Given the description of an element on the screen output the (x, y) to click on. 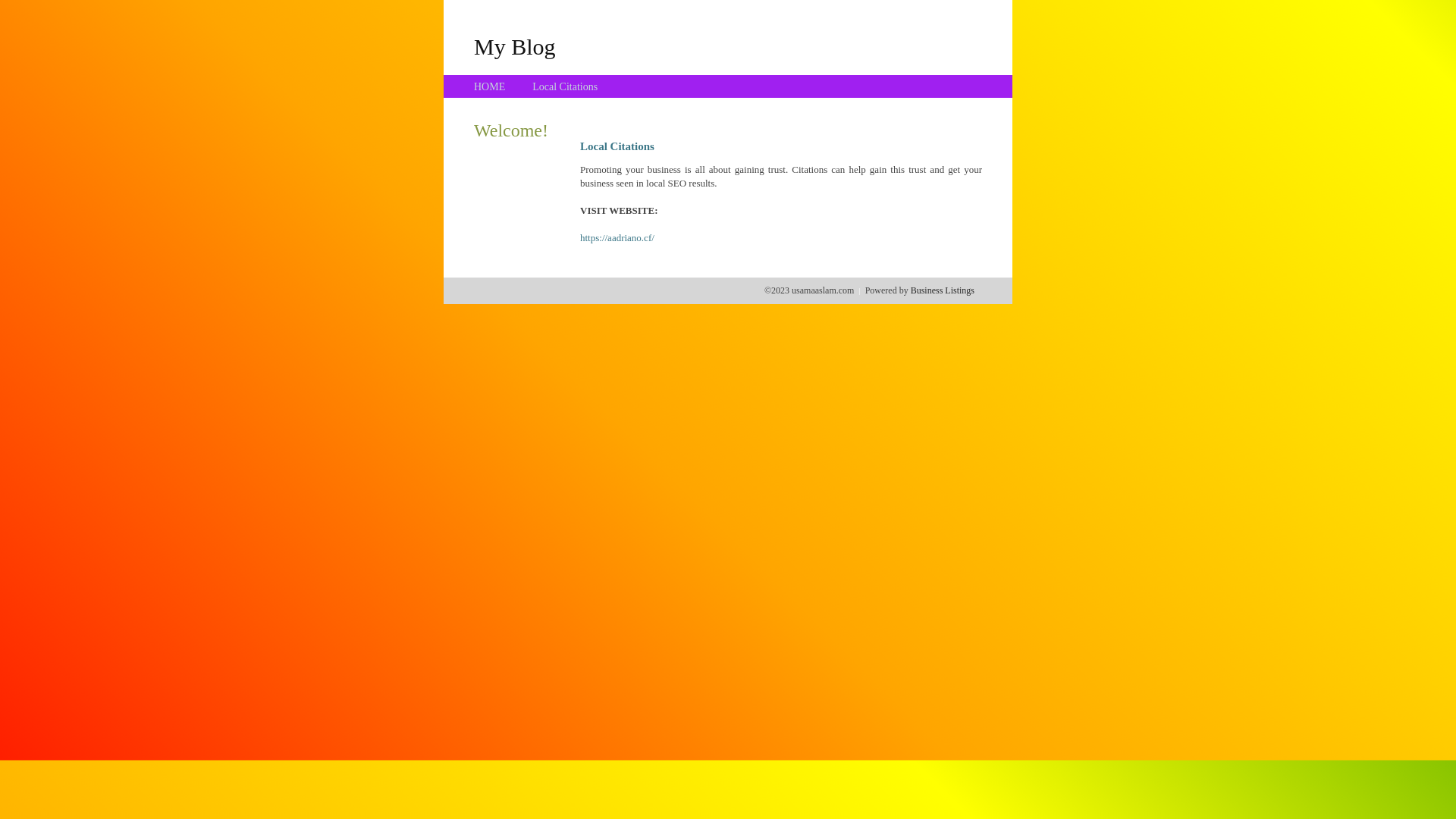
Business Listings Element type: text (942, 290)
Local Citations Element type: text (564, 86)
My Blog Element type: text (514, 46)
HOME Element type: text (489, 86)
https://aadriano.cf/ Element type: text (617, 237)
